Given the description of an element on the screen output the (x, y) to click on. 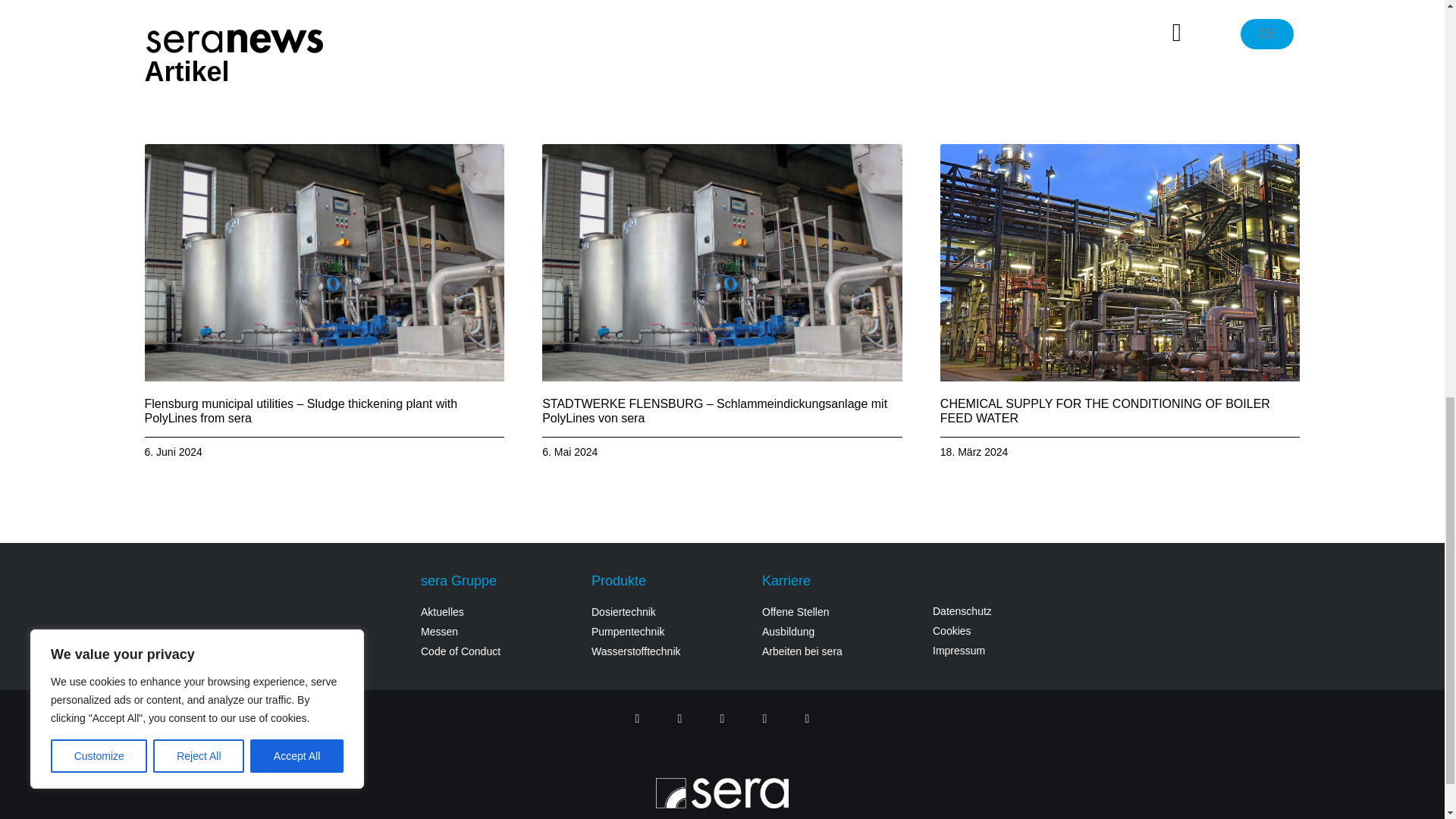
Aktuelles (498, 611)
Messen (498, 631)
CHEMICAL SUPPLY FOR THE CONDITIONING OF BOILER FEED WATER (1104, 411)
Code of Conduct (498, 651)
Dosiertechnik (668, 611)
